Given the description of an element on the screen output the (x, y) to click on. 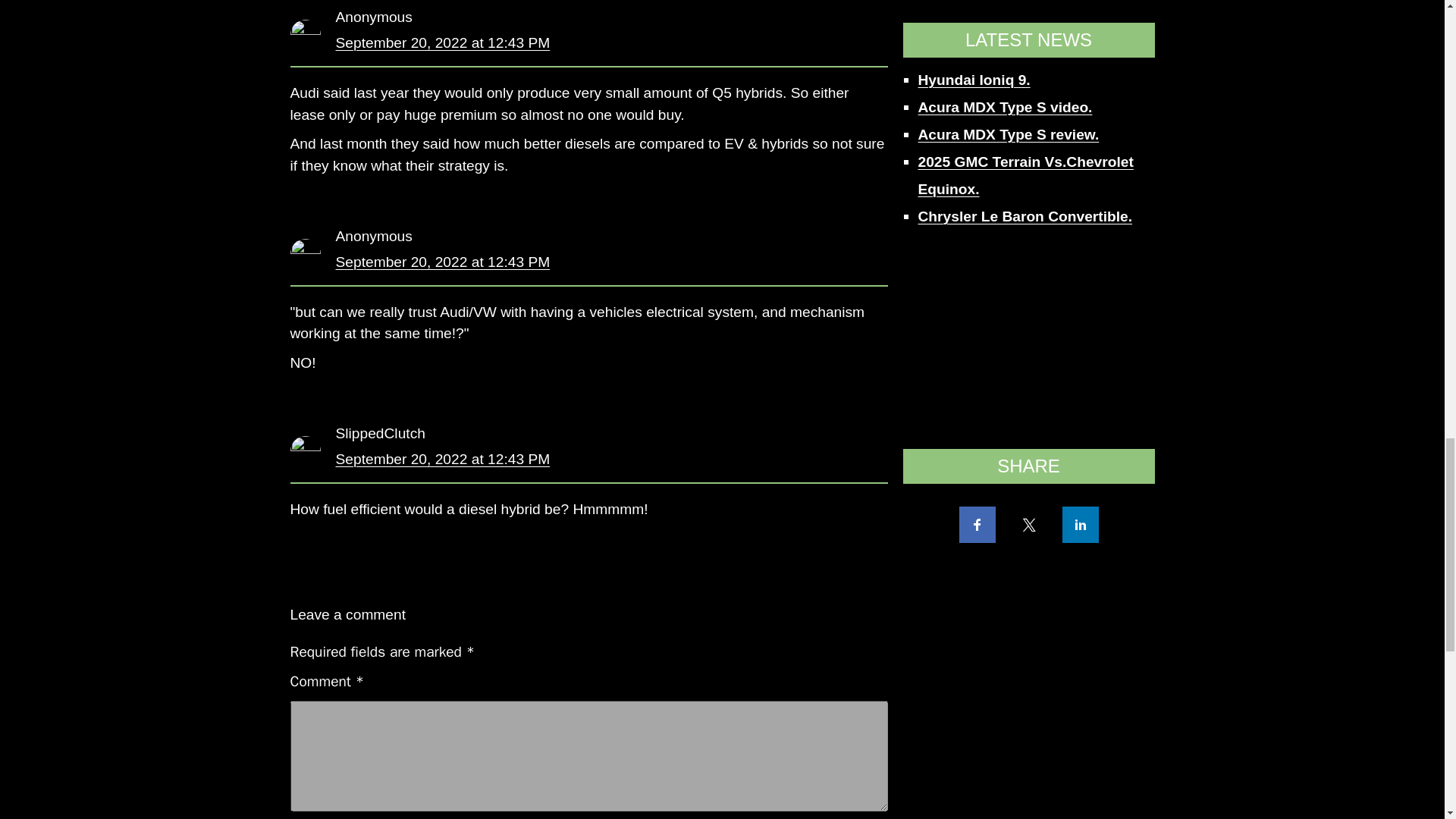
September 20, 2022 at 12:43 PM (442, 42)
September 20, 2022 at 12:43 PM (442, 261)
September 20, 2022 at 12:43 PM (442, 458)
